Given the description of an element on the screen output the (x, y) to click on. 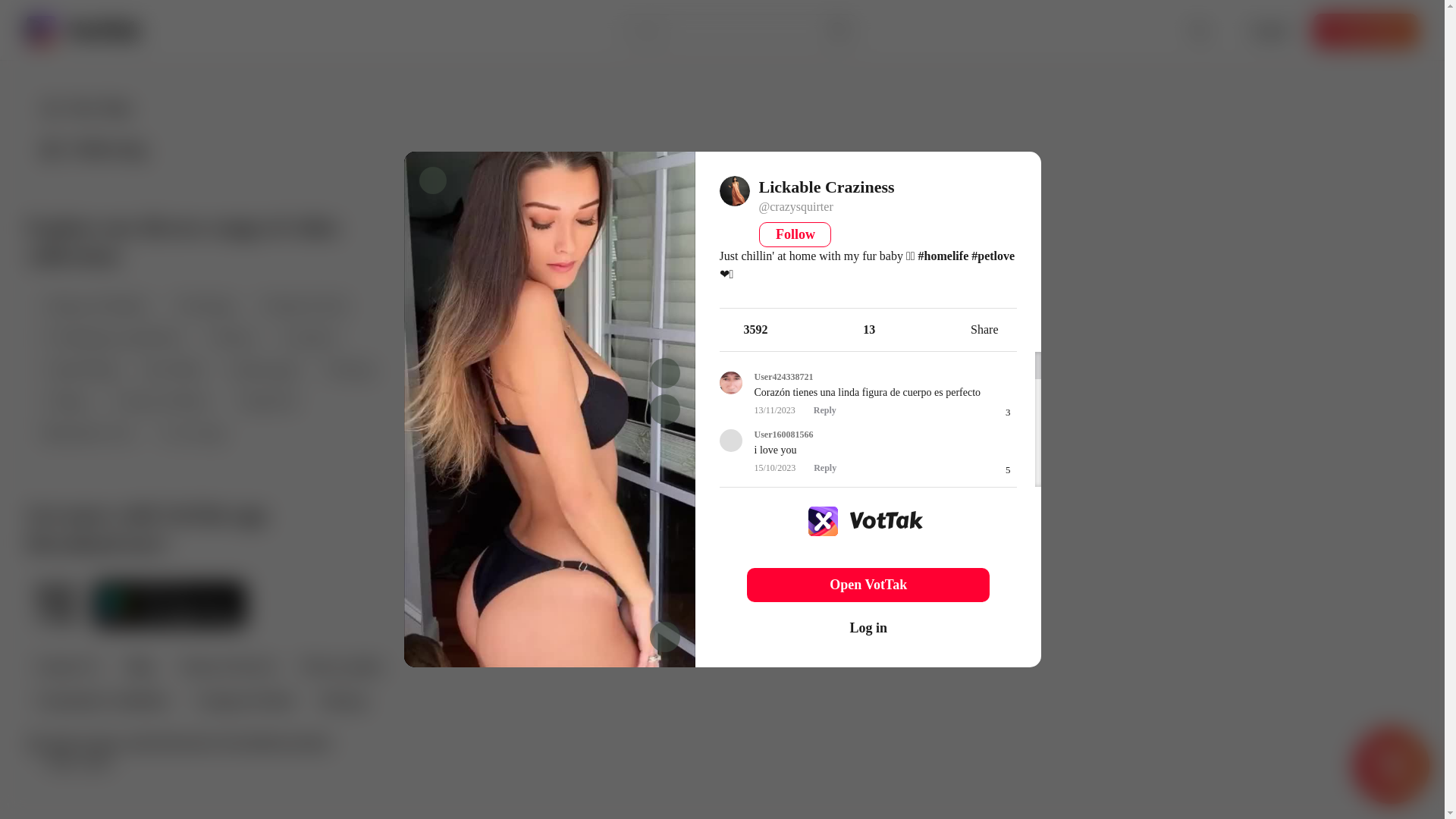
Following (93, 148)
Privacy policy (341, 668)
Log in (1269, 30)
Get the App (1365, 30)
Blog (139, 668)
Company Details (244, 702)
Contact Us (66, 668)
Community Guidelines (101, 702)
Sitemap (342, 702)
For You (86, 107)
Terms of Service (228, 668)
